Given the description of an element on the screen output the (x, y) to click on. 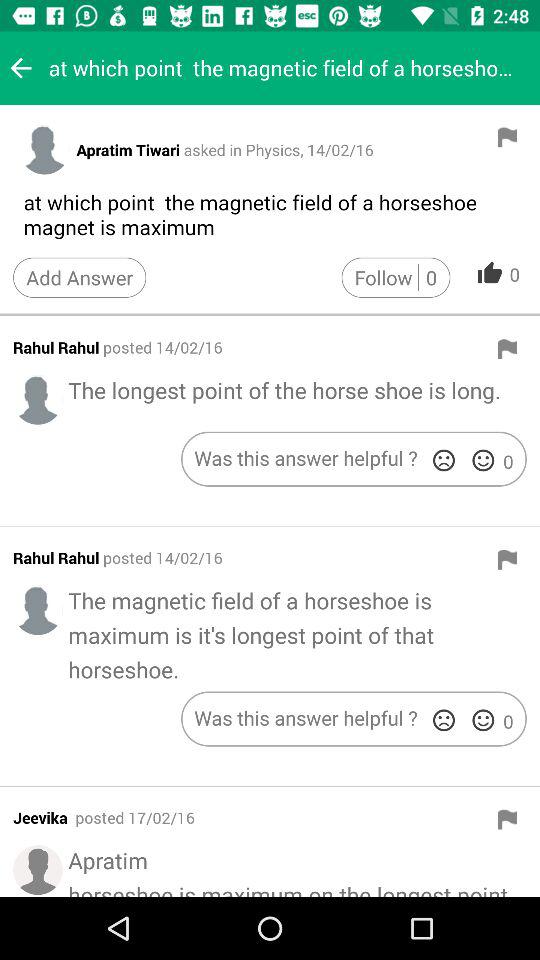
express dissatisfaction with answer (443, 720)
